Given the description of an element on the screen output the (x, y) to click on. 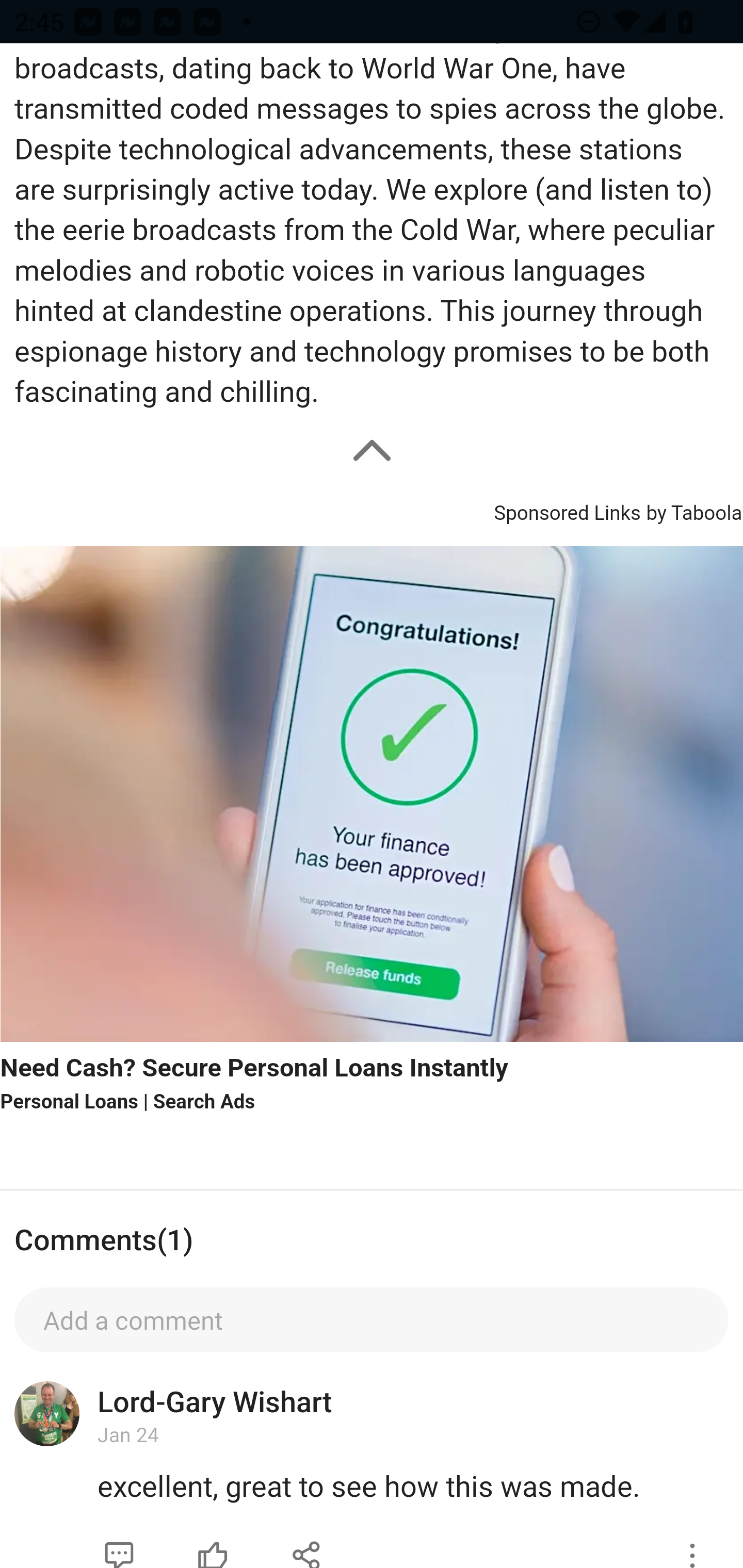
Sponsored Links (566, 510)
by Taboola (693, 510)
Add a comment (371, 1319)
 (119, 1543)
 (212, 1543)
 (307, 1543)
 (692, 1543)
